Given the description of an element on the screen output the (x, y) to click on. 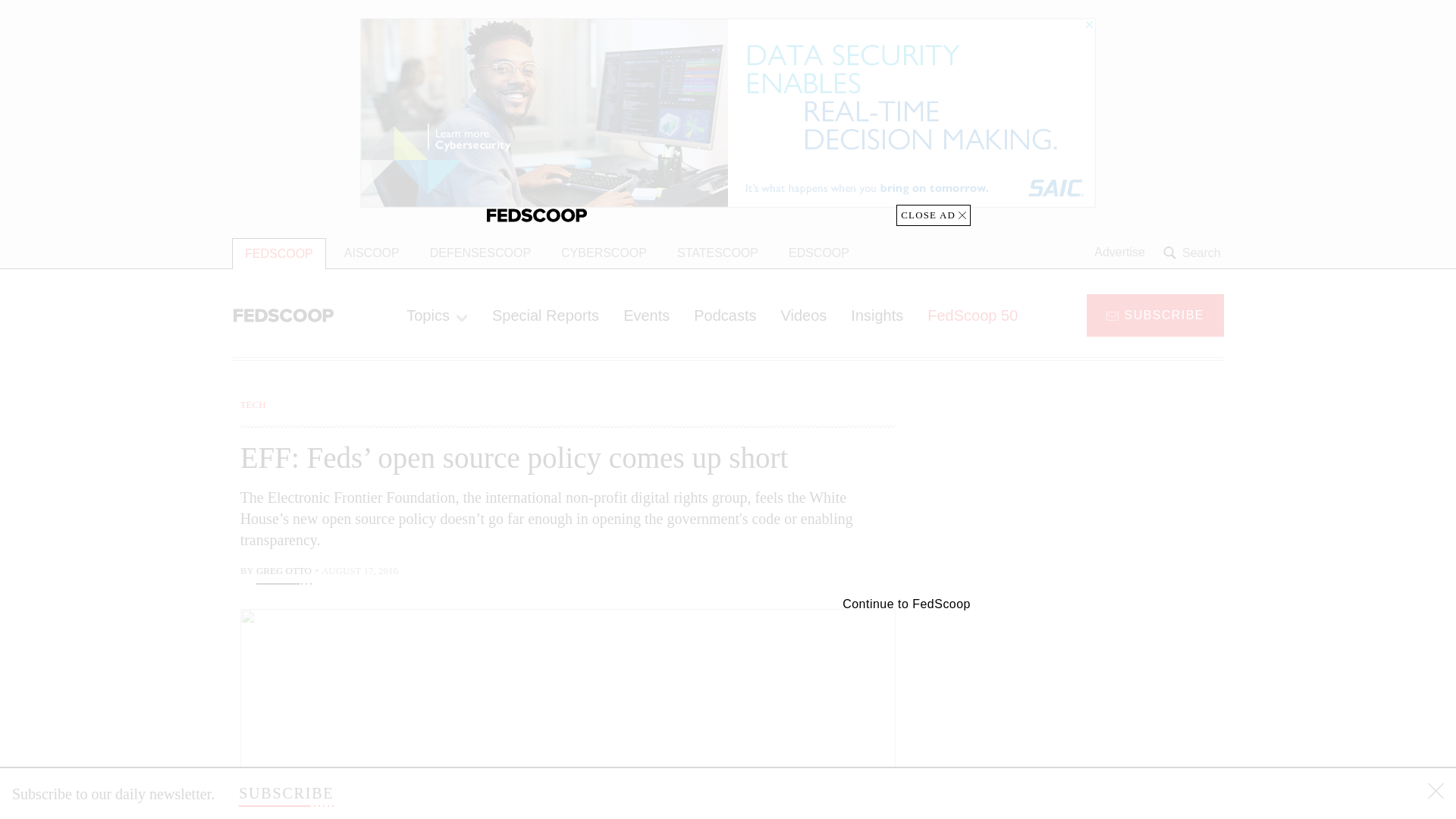
SUBSCRIBE (1155, 314)
3rd party ad content (1101, 492)
CYBERSCOOP (603, 253)
Advertise (1119, 252)
Topics (437, 315)
TECH (253, 404)
Search (1193, 252)
Events (646, 315)
Podcasts (724, 315)
FEDSCOOP (278, 253)
Special Reports (545, 315)
SUBSCRIBE (285, 793)
FedScoop 50 (972, 315)
